Given the description of an element on the screen output the (x, y) to click on. 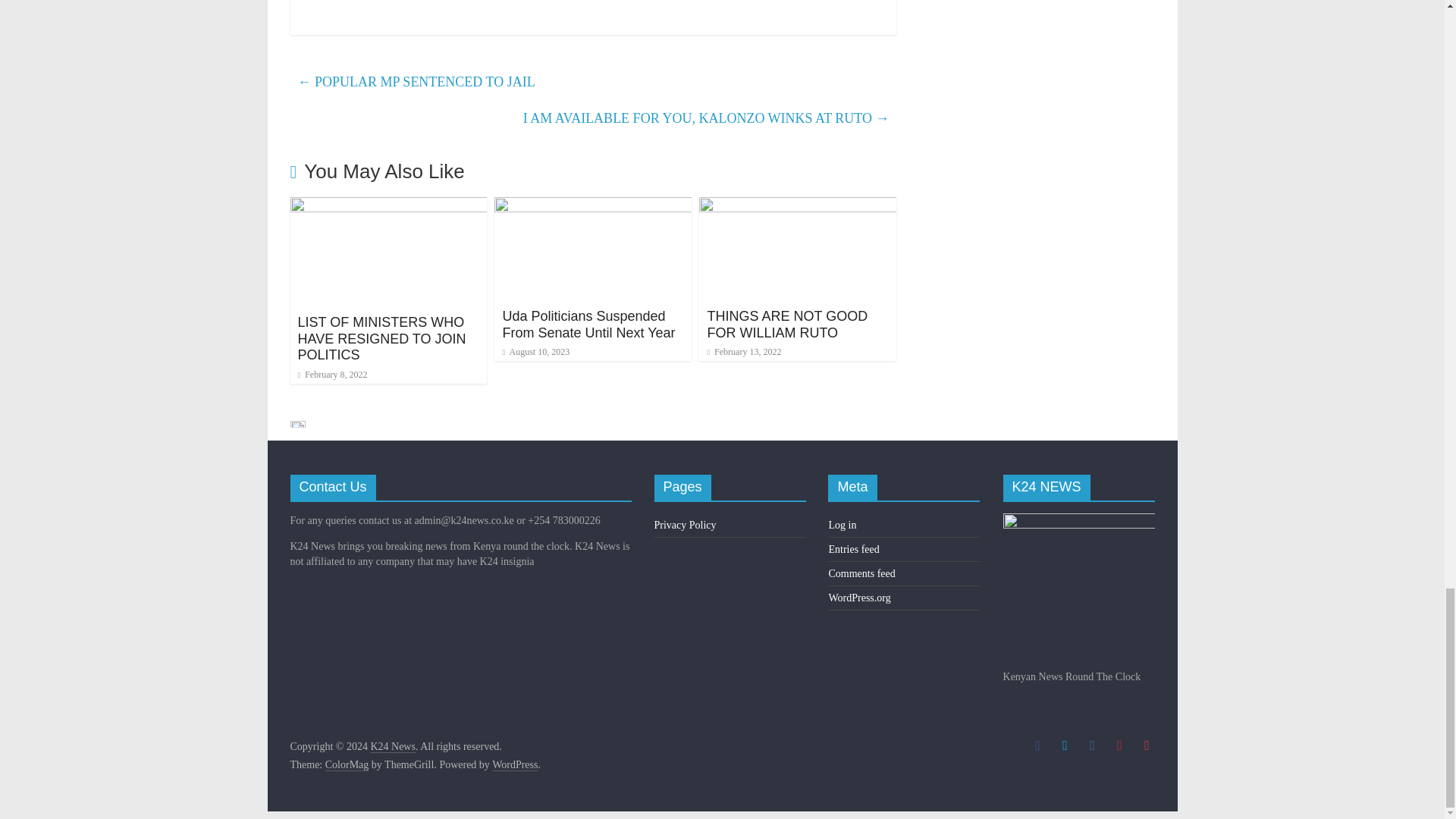
LIST OF MINISTERS WHO HAVE RESIGNED TO JOIN POLITICS (381, 338)
LIST OF MINISTERS WHO HAVE RESIGNED TO JOIN POLITICS (387, 205)
Uda Politicians Suspended From Senate Until Next Year (588, 324)
February 8, 2022 (331, 374)
